Given the description of an element on the screen output the (x, y) to click on. 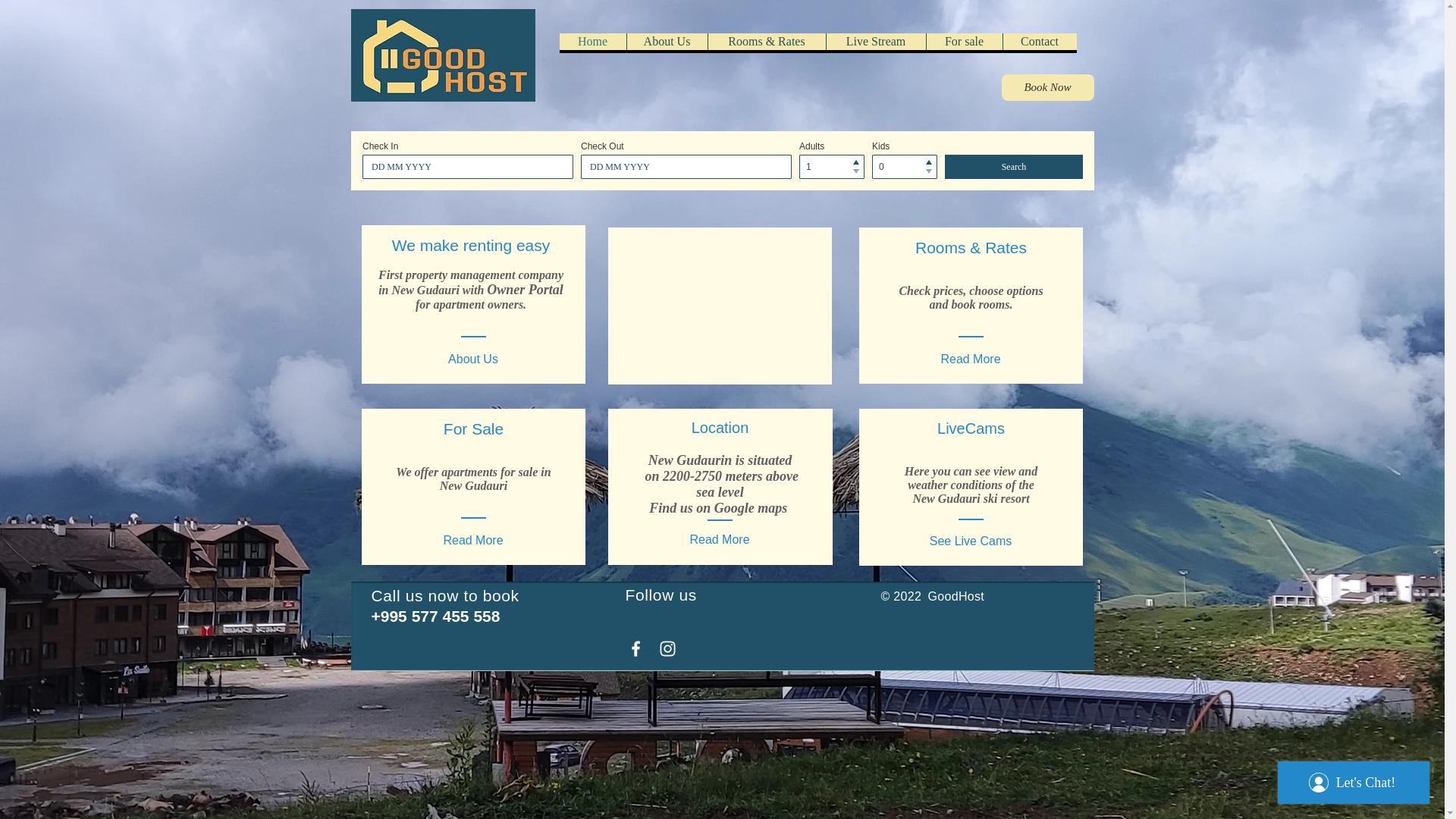
About Us (666, 41)
Screenshot 2022-07-31 at 15.23.43.png (442, 55)
For sale (962, 41)
See Live Cams (970, 541)
Read More (472, 540)
Book Now (1047, 87)
About Us (472, 359)
Wix Hotels (721, 161)
Contact (1040, 41)
Embedded Content (720, 305)
Home (592, 41)
Read More (970, 359)
Read More (719, 539)
Live Stream (874, 41)
